Given the description of an element on the screen output the (x, y) to click on. 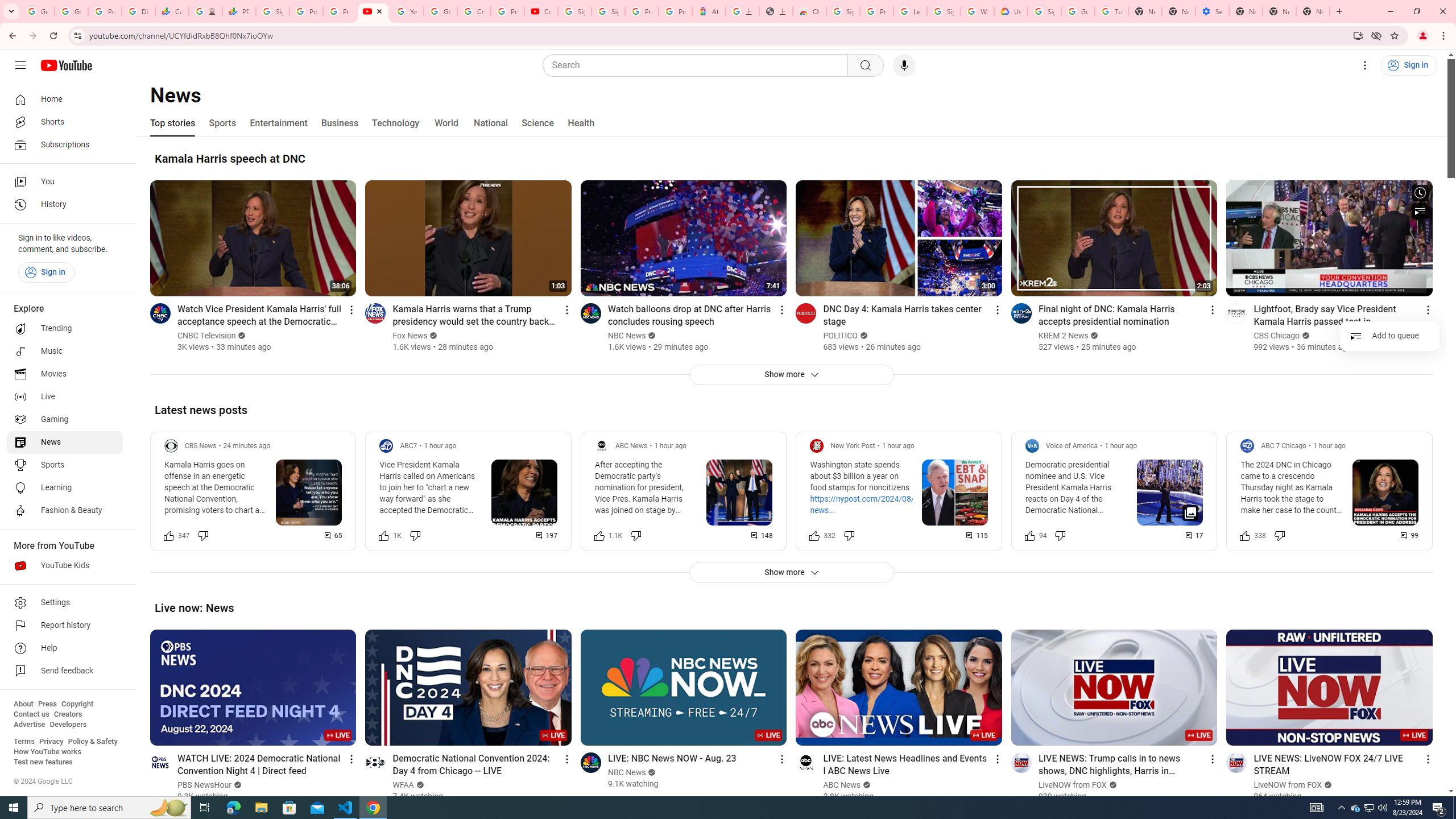
YouTube Home (66, 65)
NBC News (626, 772)
Google Account Help (441, 11)
CNBC Television (206, 335)
Currencies - Google Finance (171, 11)
Health (580, 122)
Like this post along with 347 other people (168, 534)
Top stories (172, 122)
Who are Google's partners? - Privacy and conditions - Google (976, 11)
Report history (64, 625)
Sign in - Google Accounts (842, 11)
ABC News (841, 784)
